Given the description of an element on the screen output the (x, y) to click on. 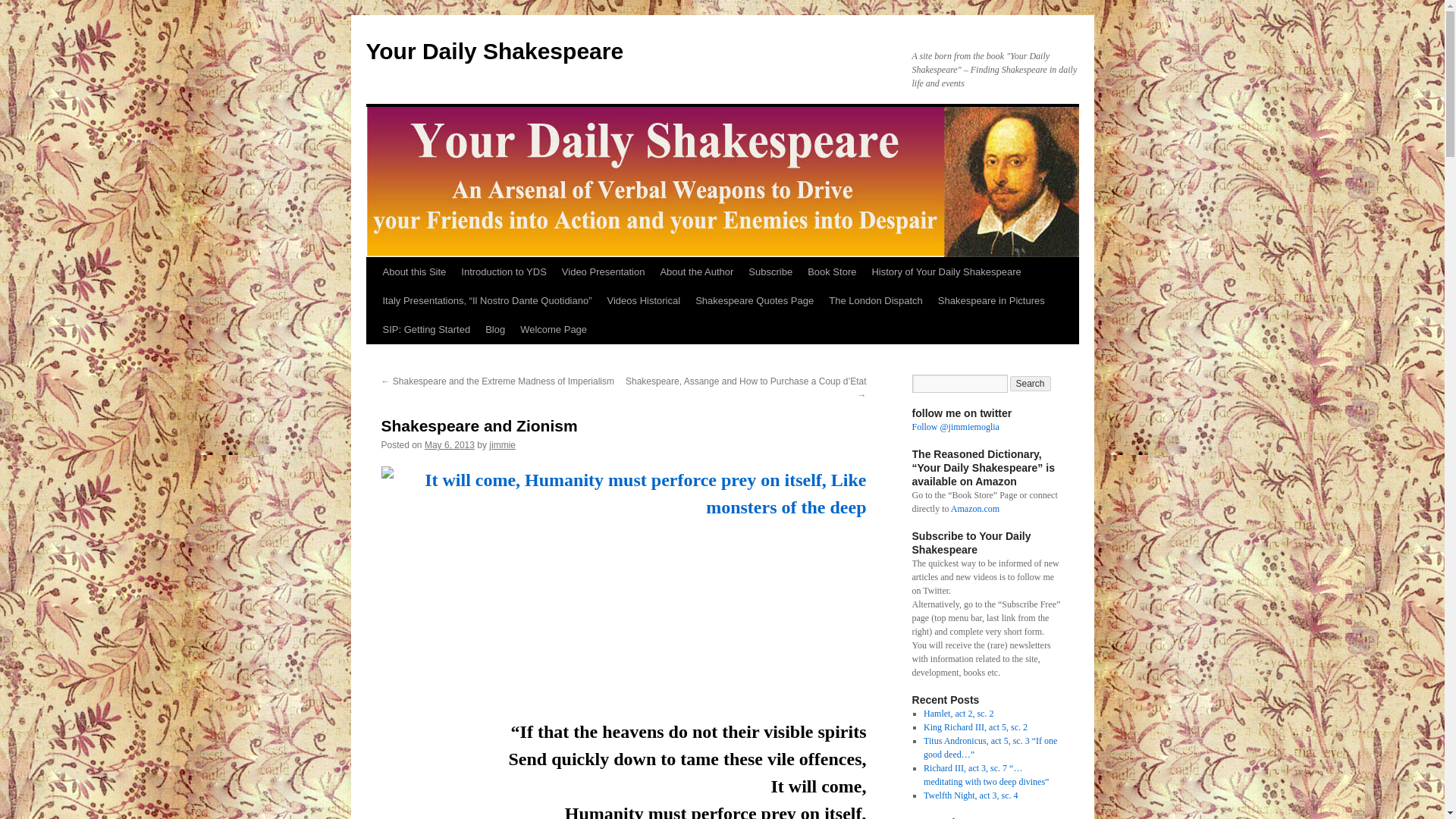
11:08 pm (449, 444)
jimmie (502, 444)
Blog (494, 329)
History of Your Daily Shakespeare (945, 271)
Your Daily Shakespeare (494, 50)
SIP: Getting Started (425, 329)
Shakespeare Quotes Page (754, 300)
Introduction to YDS (503, 271)
May 6, 2013 (449, 444)
Subscribe (770, 271)
Videos Historical (643, 300)
The London Dispatch (875, 300)
About the Author (696, 271)
Video Presentation (603, 271)
Shakespeare in Pictures (991, 300)
